Given the description of an element on the screen output the (x, y) to click on. 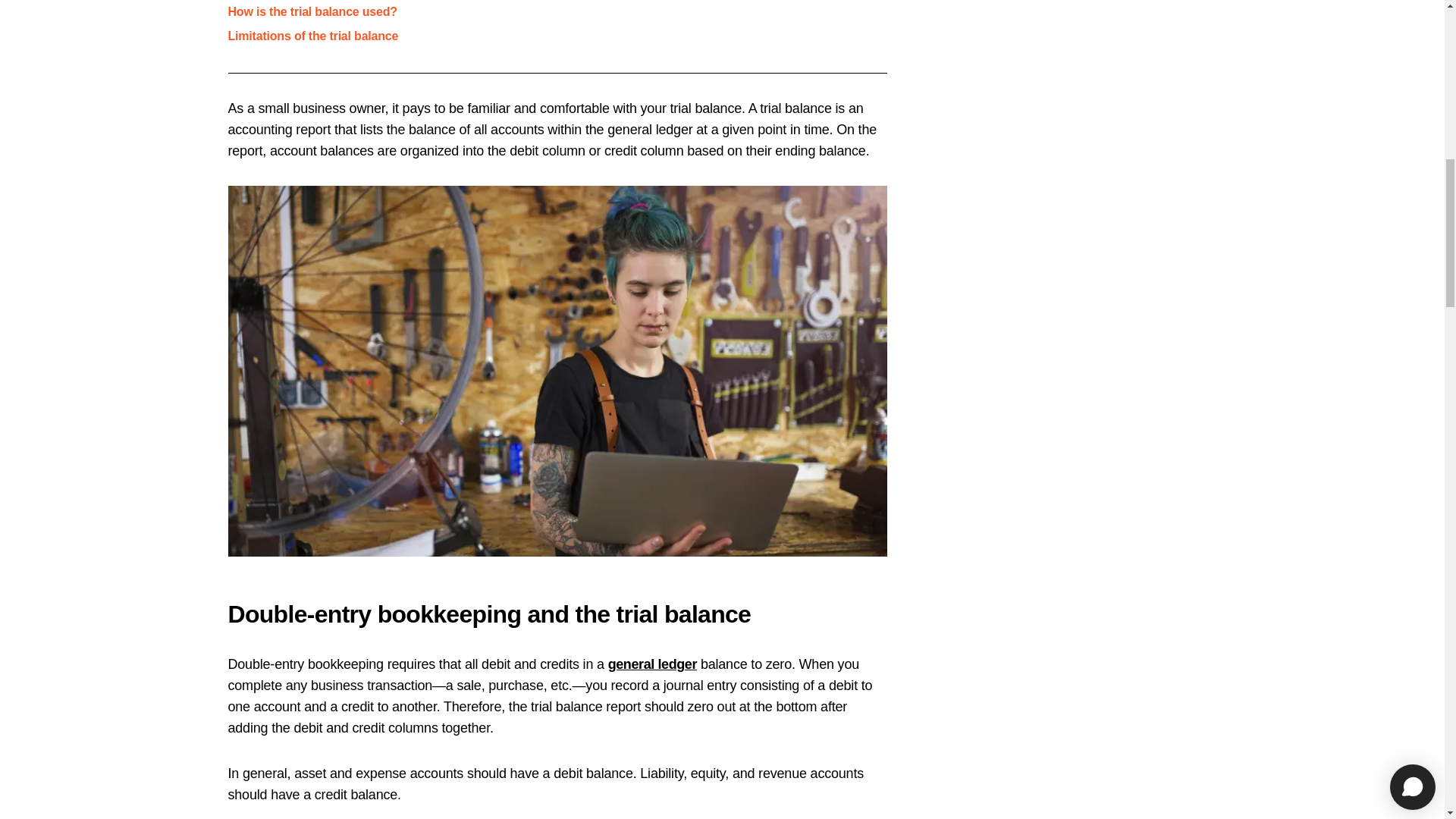
How is the trial balance used? (311, 11)
Limitations of the trial balance (312, 35)
general ledger (652, 663)
